Given the description of an element on the screen output the (x, y) to click on. 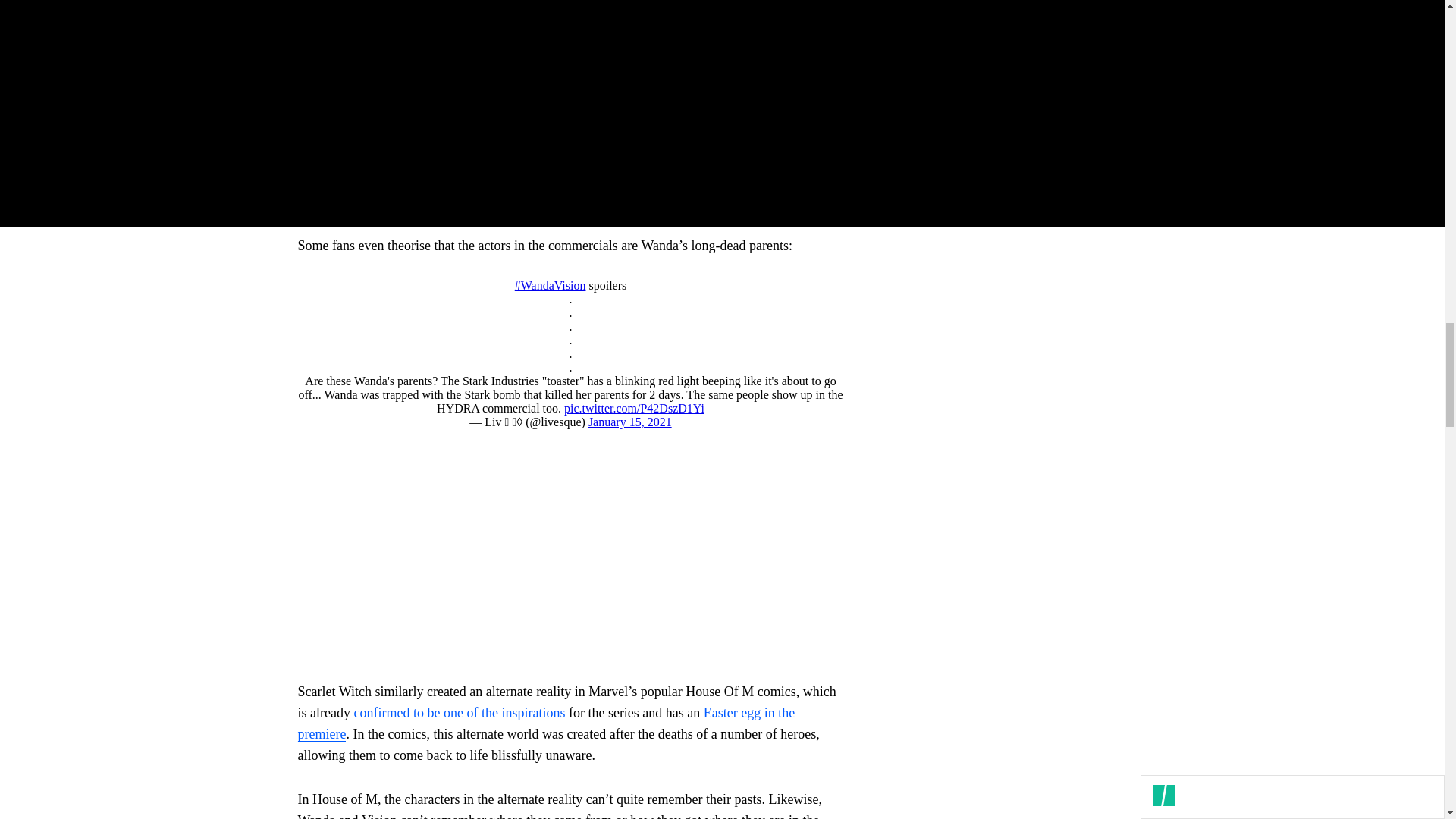
SIGN UP (1098, 75)
